Given the description of an element on the screen output the (x, y) to click on. 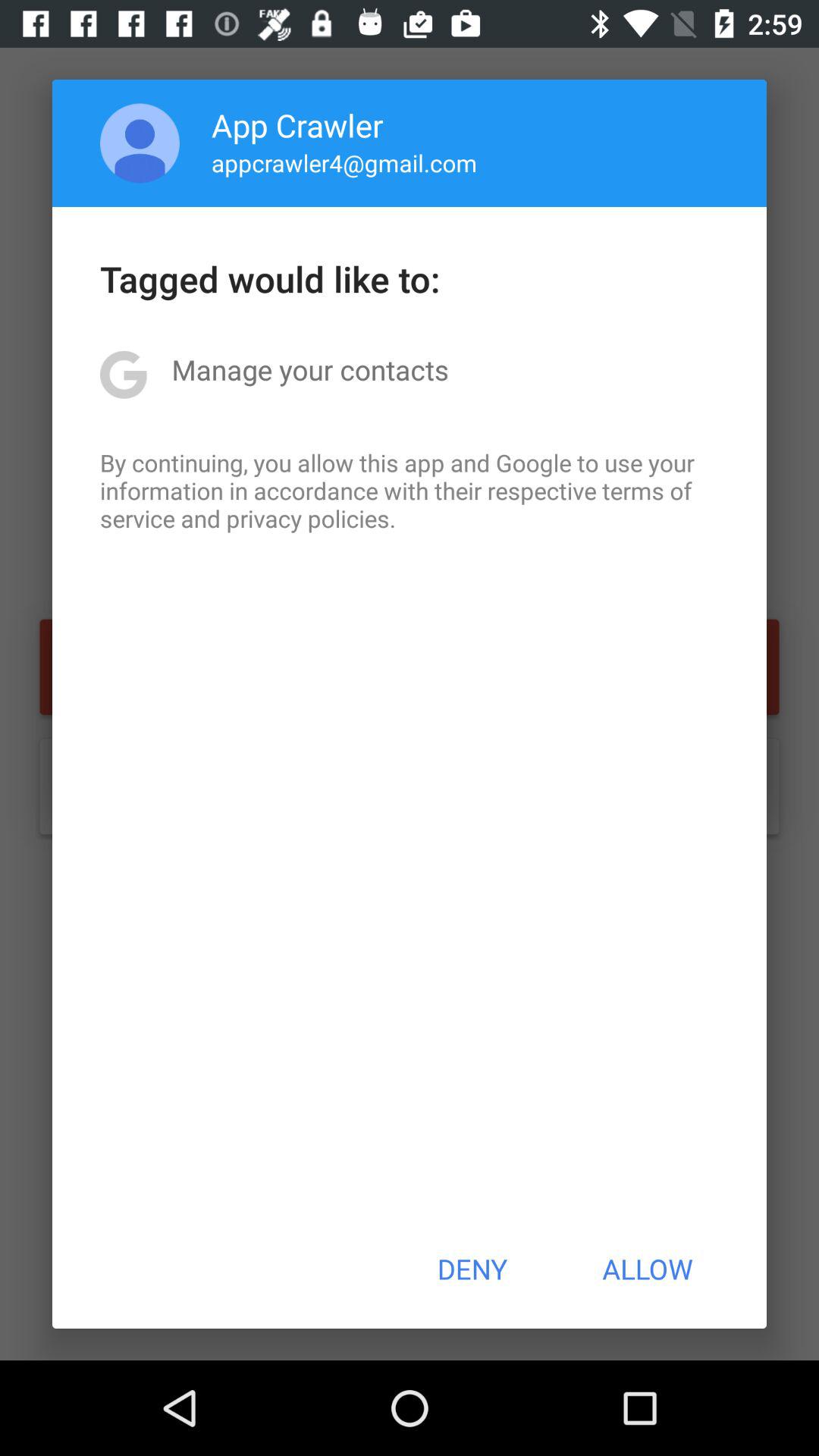
jump until the manage your contacts (309, 369)
